Given the description of an element on the screen output the (x, y) to click on. 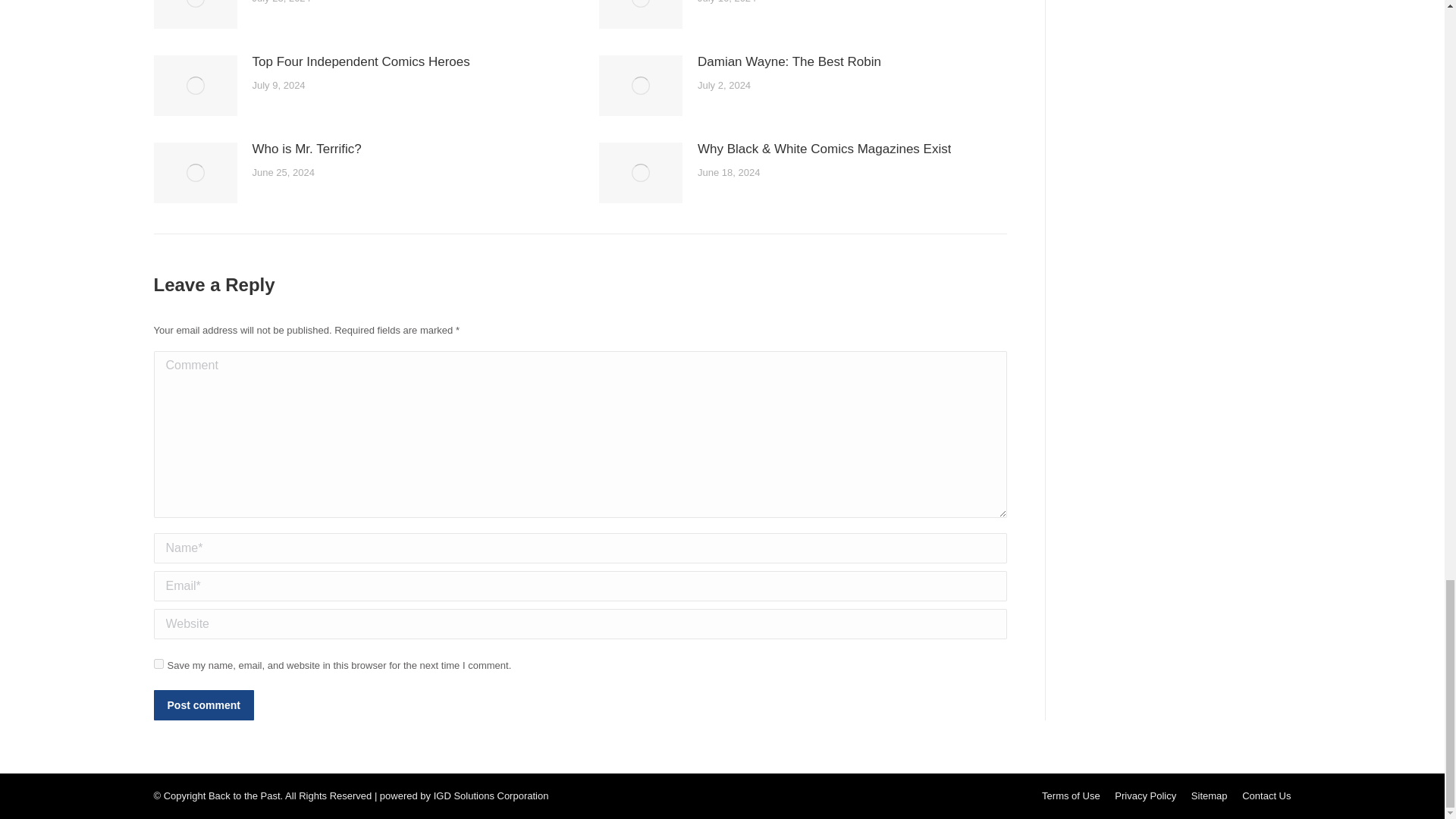
yes (157, 663)
